Given the description of an element on the screen output the (x, y) to click on. 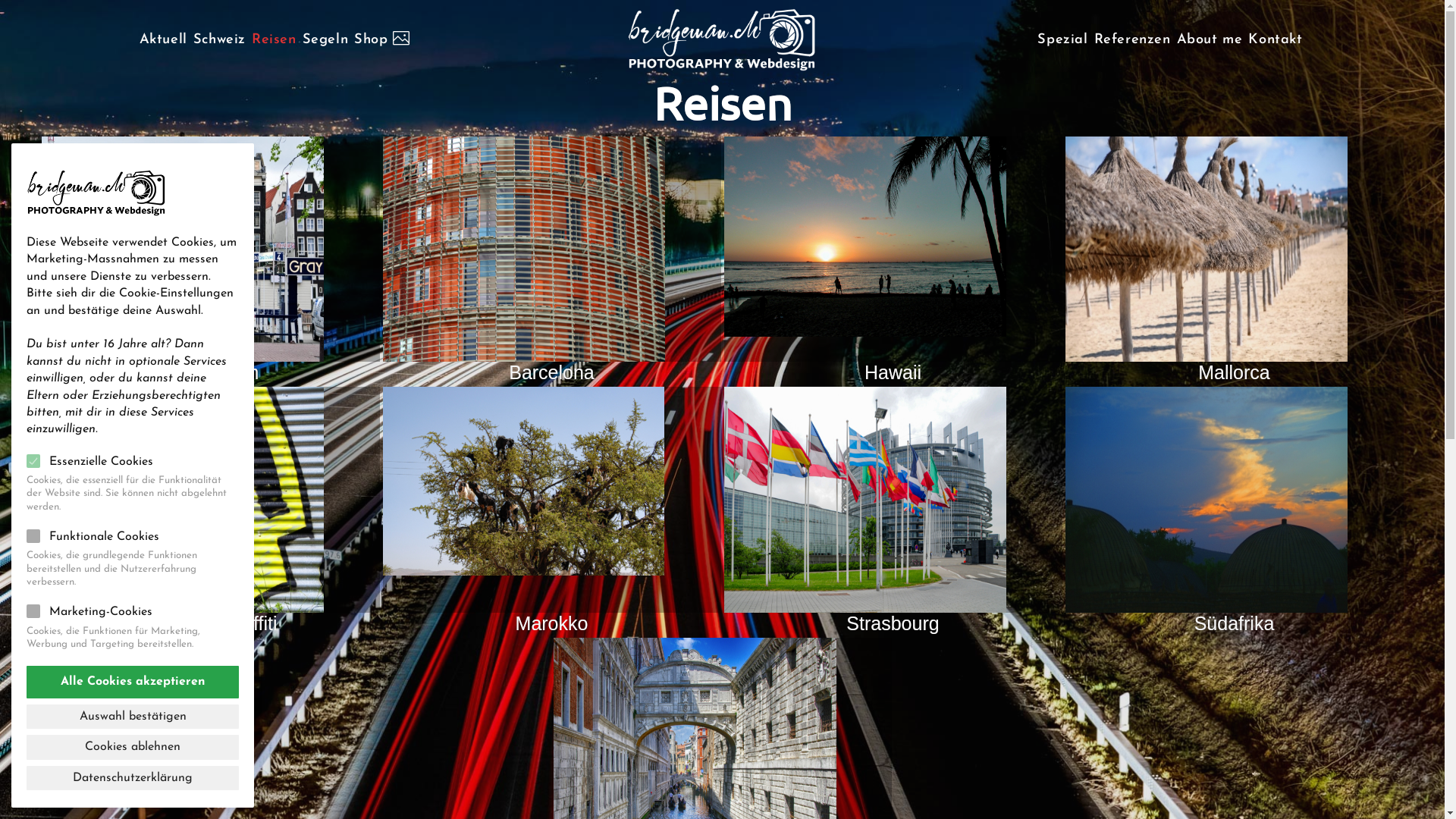
Strasbourg Element type: text (892, 509)
Alle Cookies akzeptieren Element type: text (132, 681)
Amsterdam Element type: hover (181, 248)
Barcelona Element type: hover (523, 248)
Referenzen Element type: text (1132, 39)
Mallorca Element type: text (1233, 259)
Hawaii Element type: text (892, 259)
Reisen Element type: text (273, 39)
Schweiz Element type: text (219, 39)
Hawaii Element type: hover (864, 230)
Strasbourg Element type: hover (864, 498)
Spezial Element type: text (1062, 39)
Kontakt Element type: text (1275, 39)
Cookies ablehnen Element type: text (132, 746)
Marokko Element type: hover (523, 480)
Segeln Element type: text (325, 39)
Amsterdam Element type: text (209, 259)
Barcelona Element type: text (551, 259)
Mallorca-Graffiti Element type: text (209, 509)
Aktuell Element type: text (163, 39)
Shop Element type: text (381, 39)
About me Element type: text (1209, 39)
Mallorca Element type: hover (1205, 248)
Marokko Element type: text (551, 509)
Mallorca-Graffiti Element type: hover (181, 498)
